Given the description of an element on the screen output the (x, y) to click on. 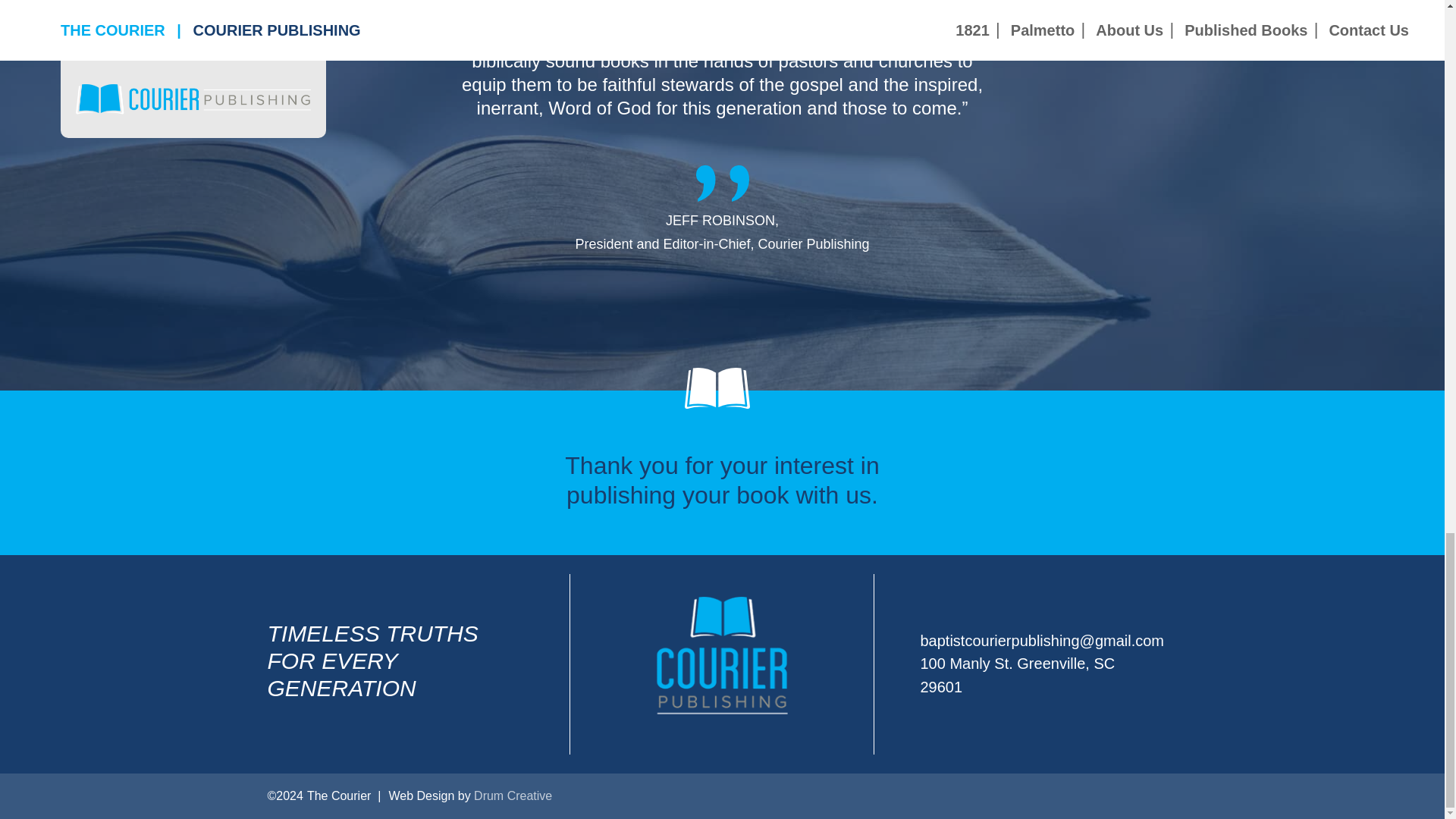
Drum Creative (512, 795)
100 Manly St. Greenville, SC 29601 (1017, 675)
